Given the description of an element on the screen output the (x, y) to click on. 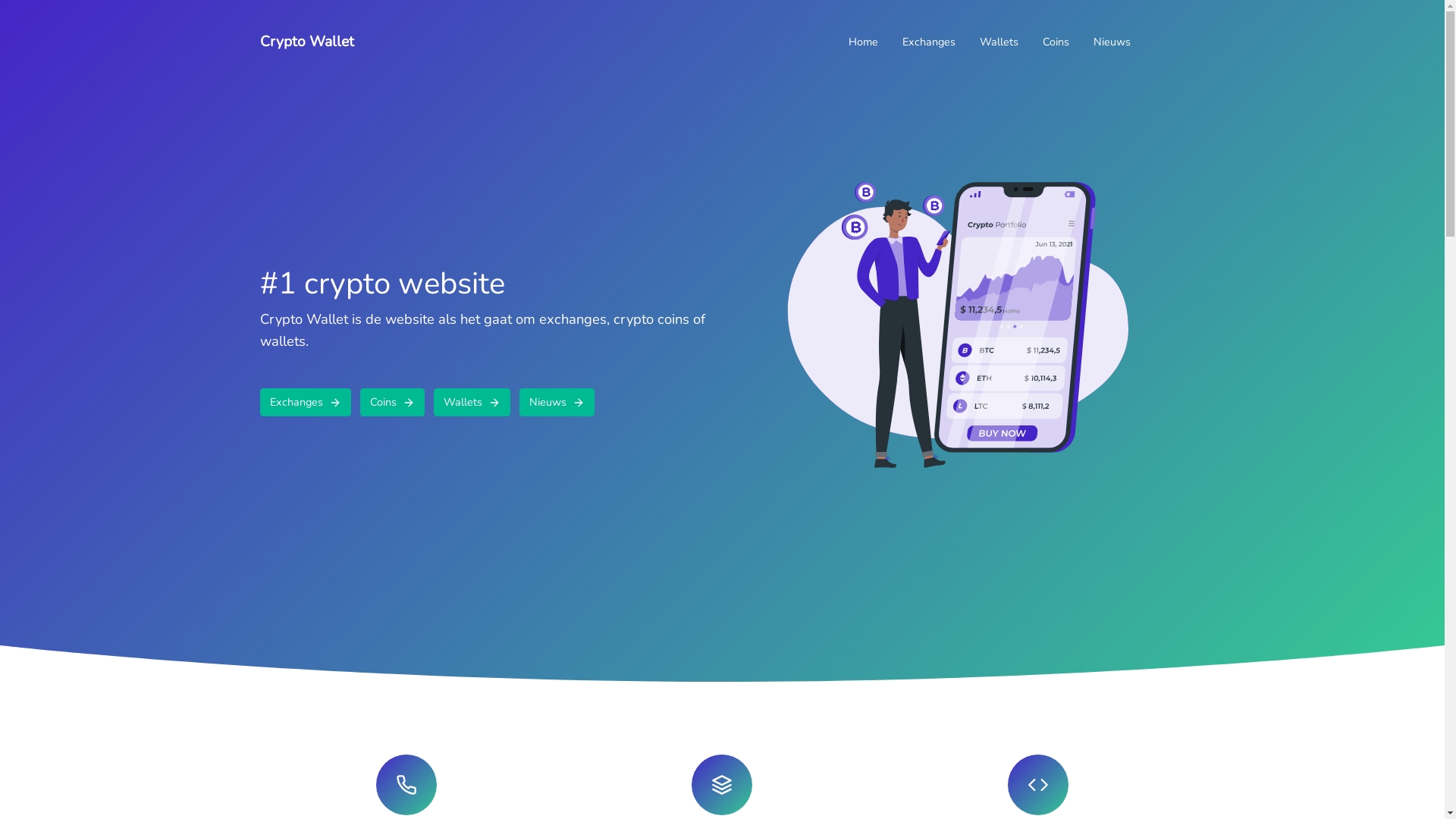
Home Element type: text (862, 41)
Wallets Element type: text (998, 41)
Coins Element type: text (391, 402)
Nieuws Element type: text (555, 402)
Exchanges Element type: text (928, 41)
Wallets Element type: text (471, 402)
Exchanges Element type: text (304, 402)
Nieuws Element type: text (1111, 41)
Crypto Wallet Element type: text (306, 41)
Coins Element type: text (1054, 41)
